Given the description of an element on the screen output the (x, y) to click on. 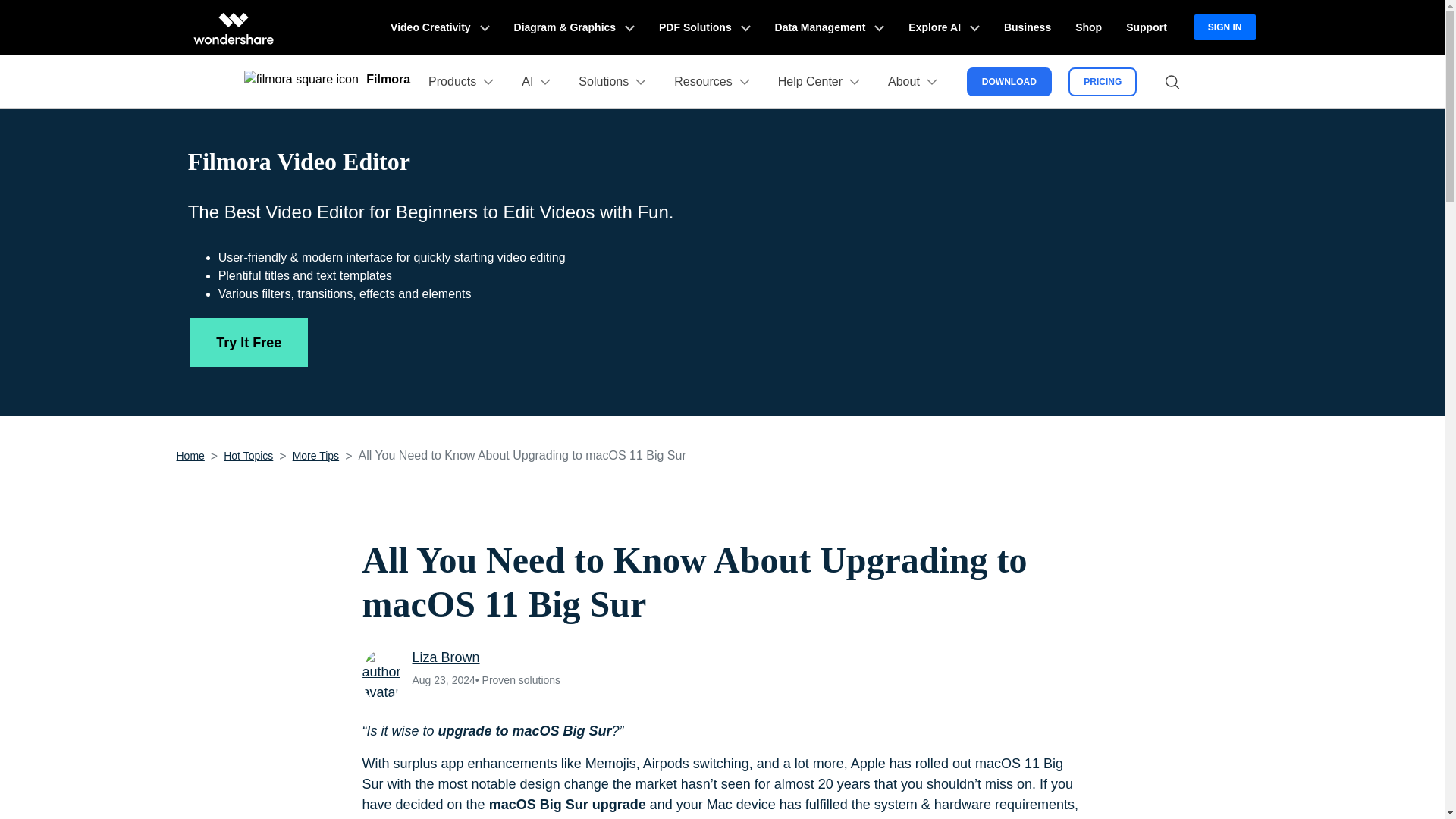
PDF Solutions (704, 27)
Video Creativity (439, 27)
Data Management (829, 27)
Explore AI (943, 27)
